Given the description of an element on the screen output the (x, y) to click on. 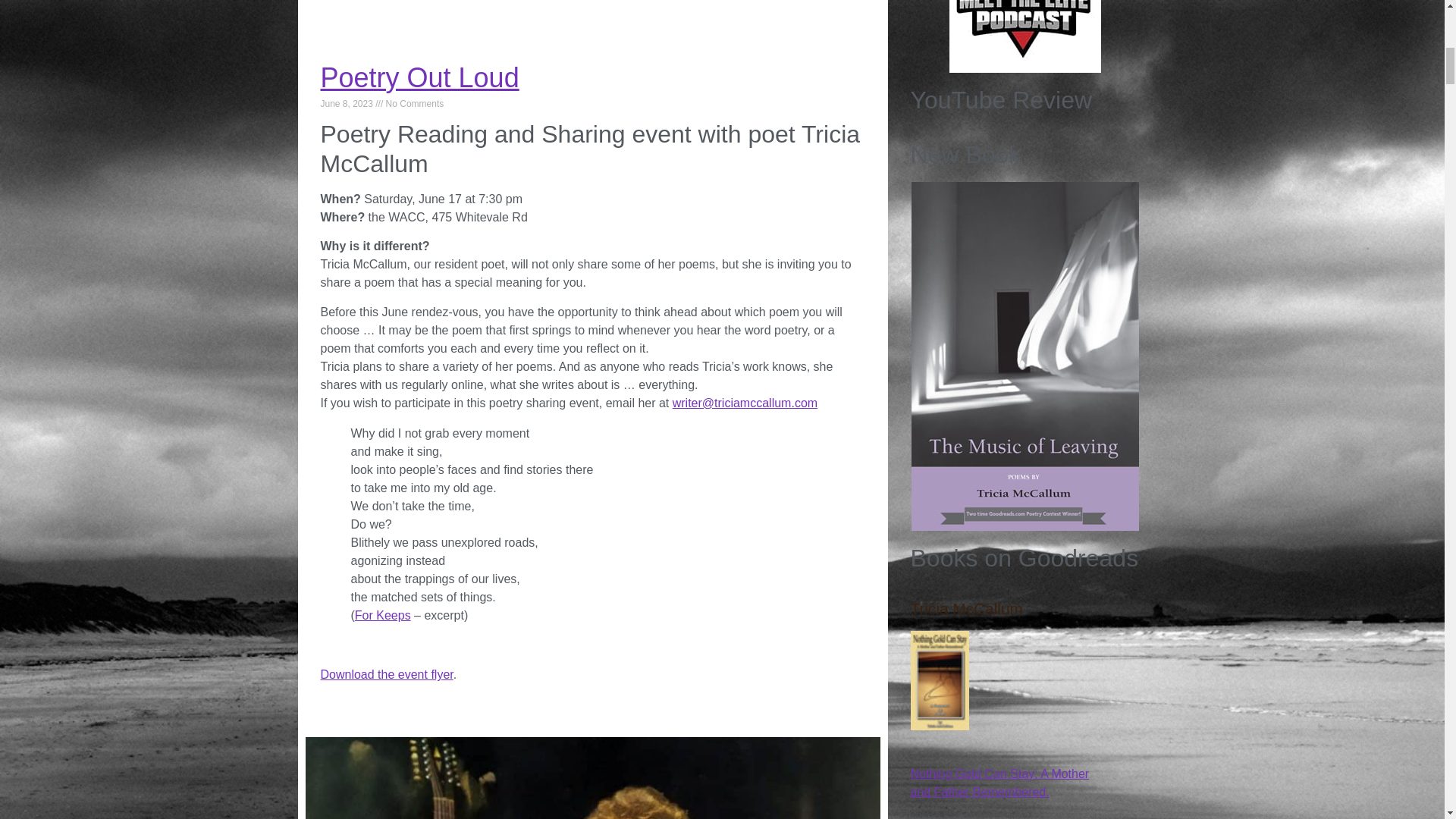
Poetry Out Loud (419, 77)
For Keeps (382, 615)
Nothing Gold Can Stay: A Mother and Father Remembered. (939, 725)
Download the event flyer (386, 674)
